Given the description of an element on the screen output the (x, y) to click on. 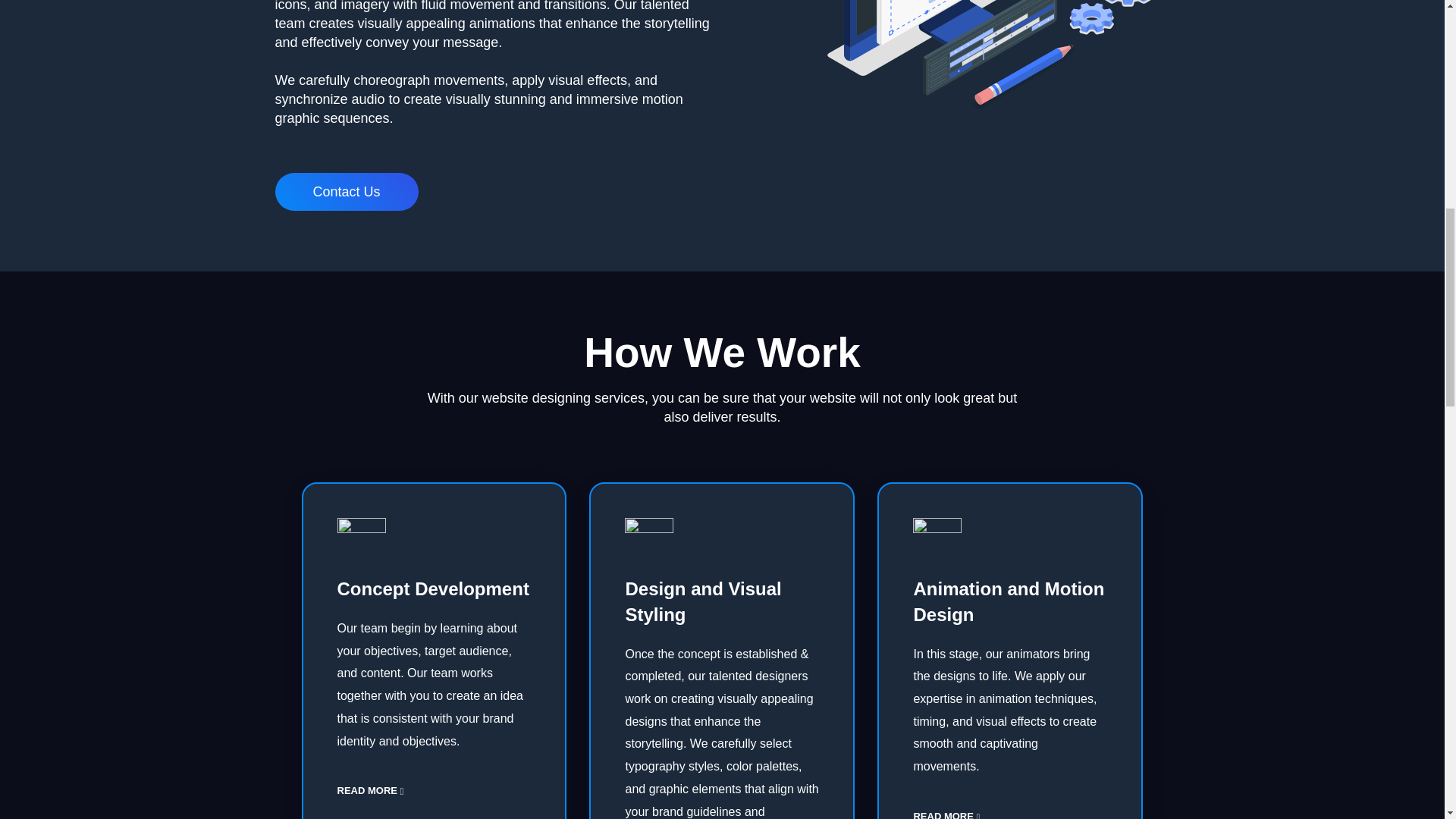
Contact Us (346, 191)
READ MORE (369, 790)
READ MORE (945, 815)
